Given the description of an element on the screen output the (x, y) to click on. 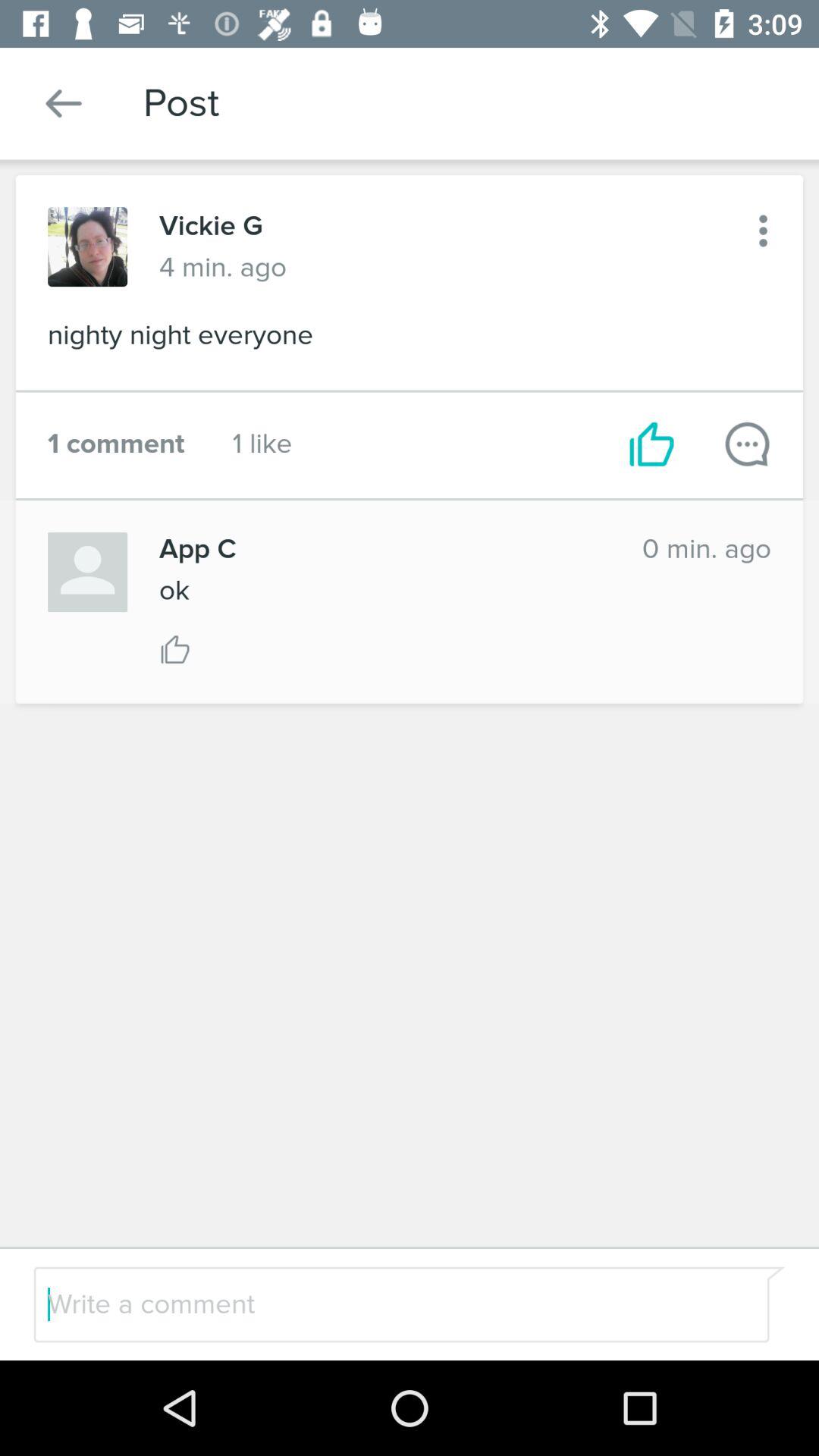
turn on icon to the left of the post (63, 103)
